Given the description of an element on the screen output the (x, y) to click on. 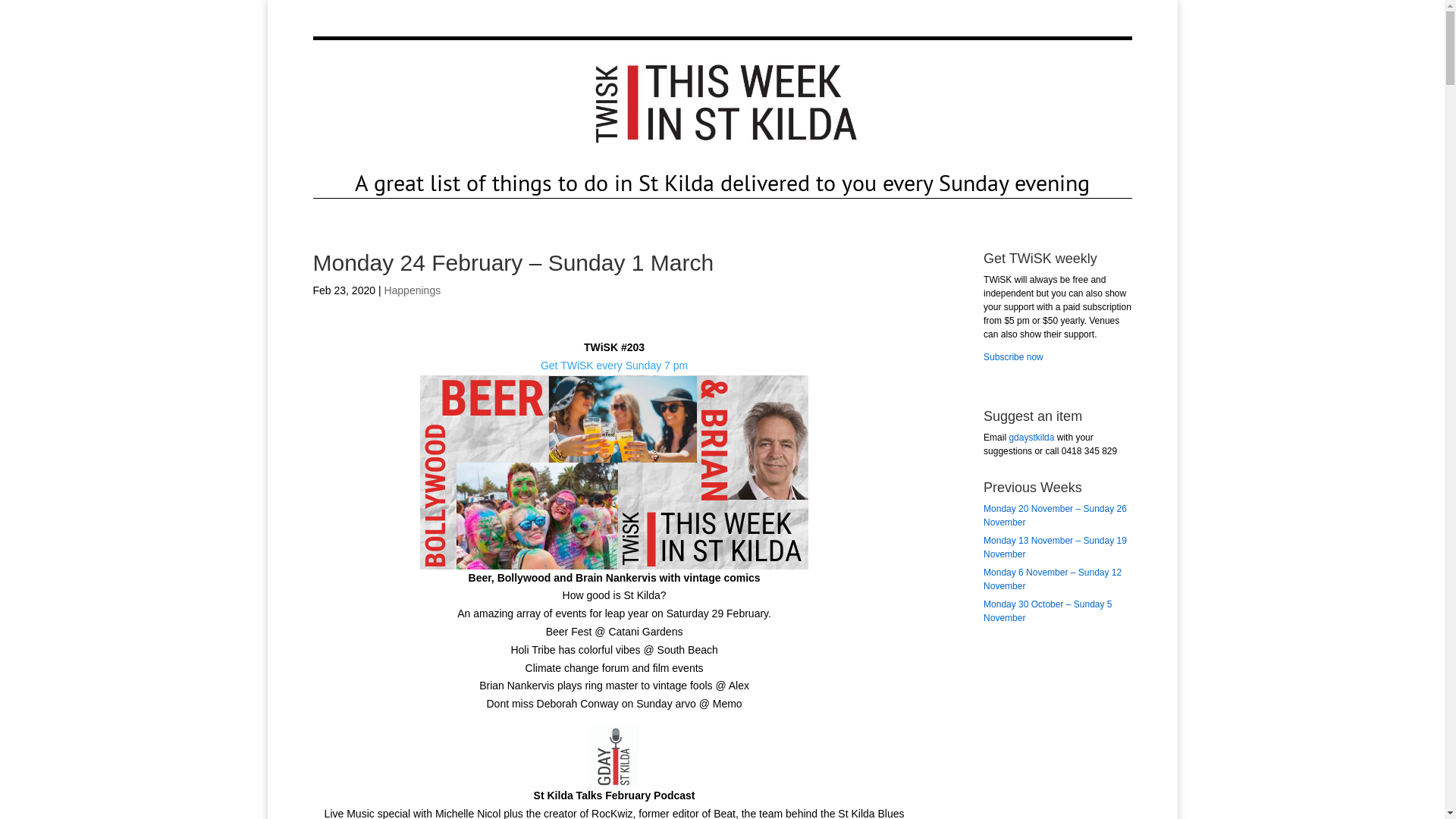
gdaystkilda Element type: text (1031, 437)
Subscribe now Element type: text (1013, 356)
Happenings Element type: text (411, 290)
Get TWiSK every Sunday 7 pm Element type: text (613, 365)
